Given the description of an element on the screen output the (x, y) to click on. 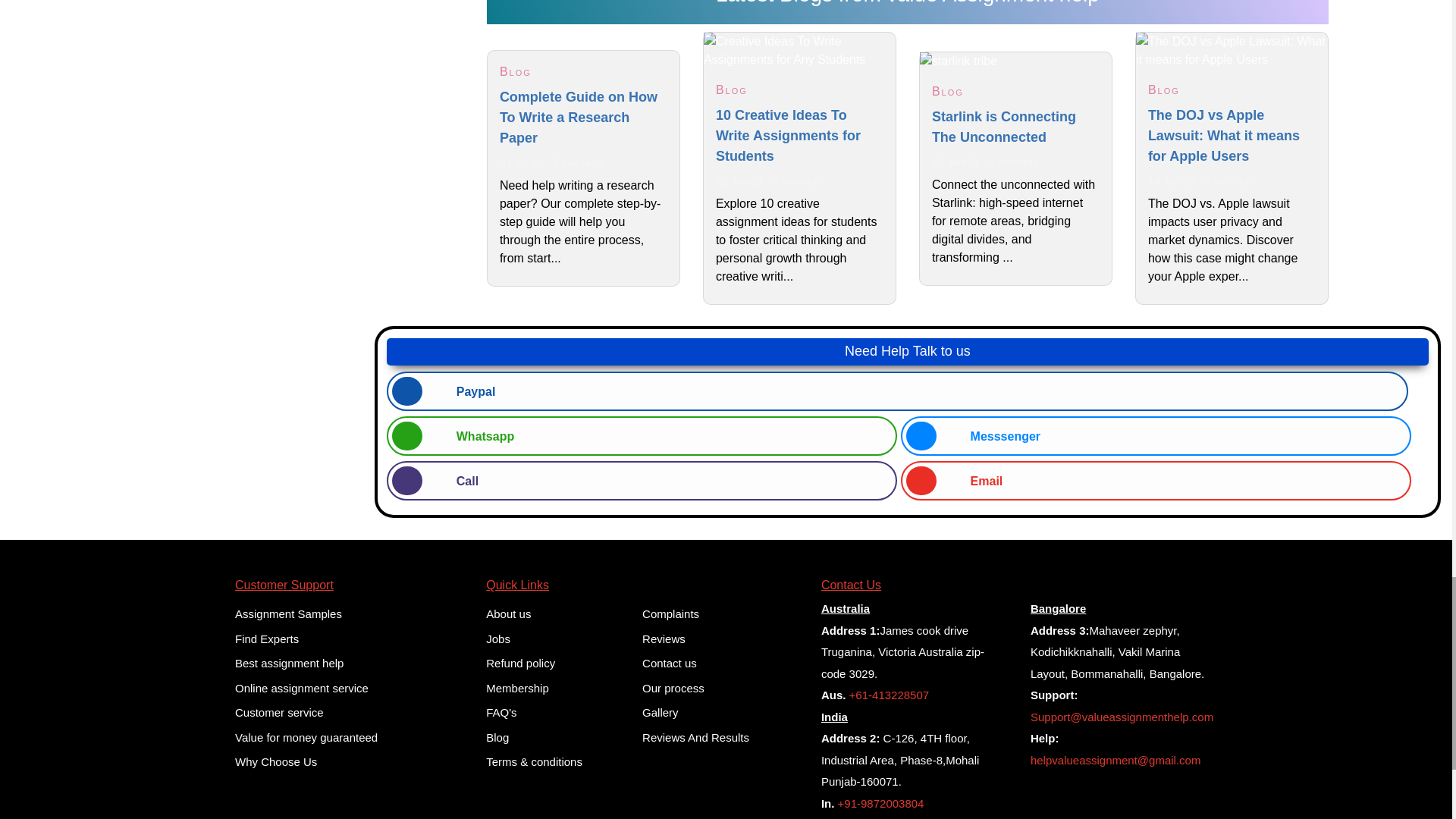
Starlink is Connecting The Unconnected (1016, 61)
The DOJ vs Apple Lawsuit: What it means for Apple Users (1231, 50)
10 Creative Ideas To Write Assignments for Students (799, 50)
